Given the description of an element on the screen output the (x, y) to click on. 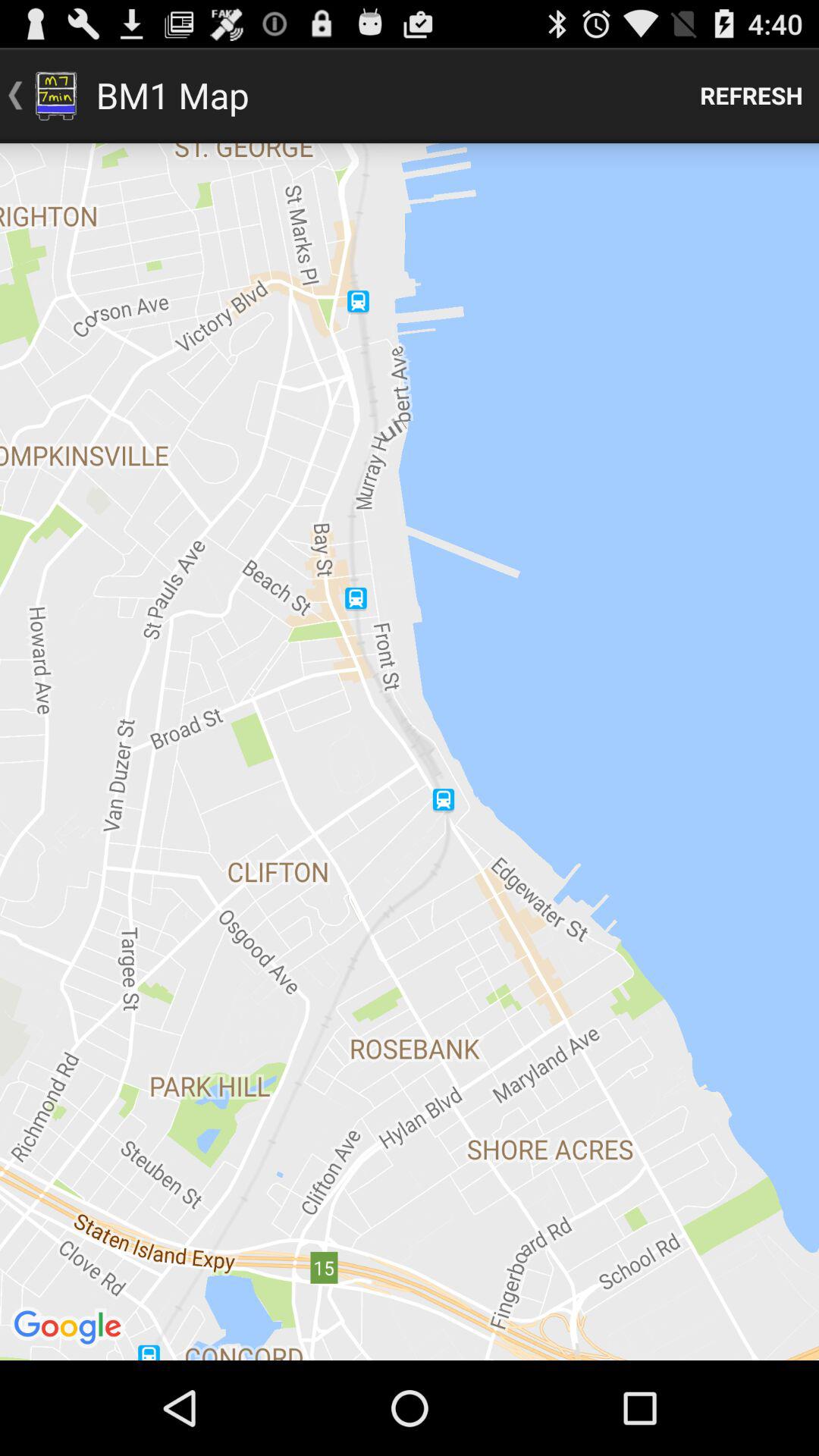
select the item at the center (409, 751)
